Given the description of an element on the screen output the (x, y) to click on. 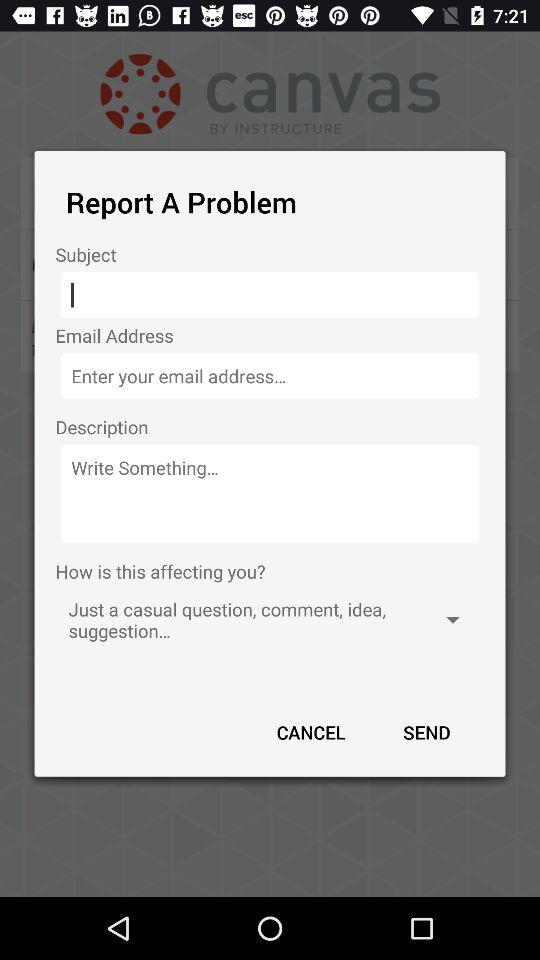
choose the icon next to send item (311, 732)
